Given the description of an element on the screen output the (x, y) to click on. 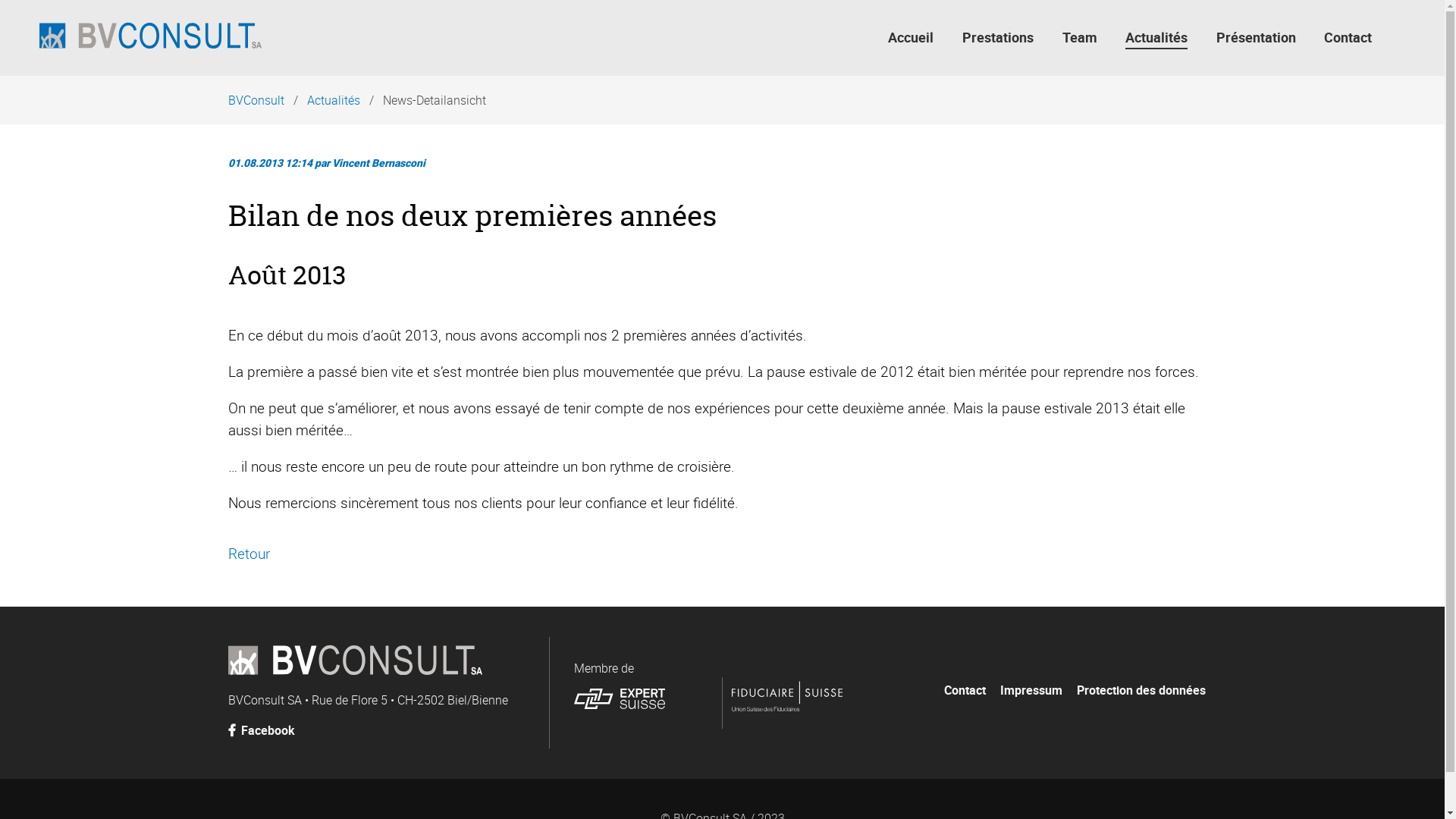
BVConsult Element type: text (259, 100)
Retour Element type: text (248, 553)
Aller au contenu Element type: text (1216, 665)
Accueil Element type: text (915, 38)
Impressum Element type: text (1030, 689)
Contact Element type: text (964, 689)
Facebook Element type: text (268, 729)
Contact Element type: text (1352, 38)
News-Detailansicht Element type: text (433, 100)
Prestations Element type: text (1003, 38)
Team Element type: text (1085, 38)
